Given the description of an element on the screen output the (x, y) to click on. 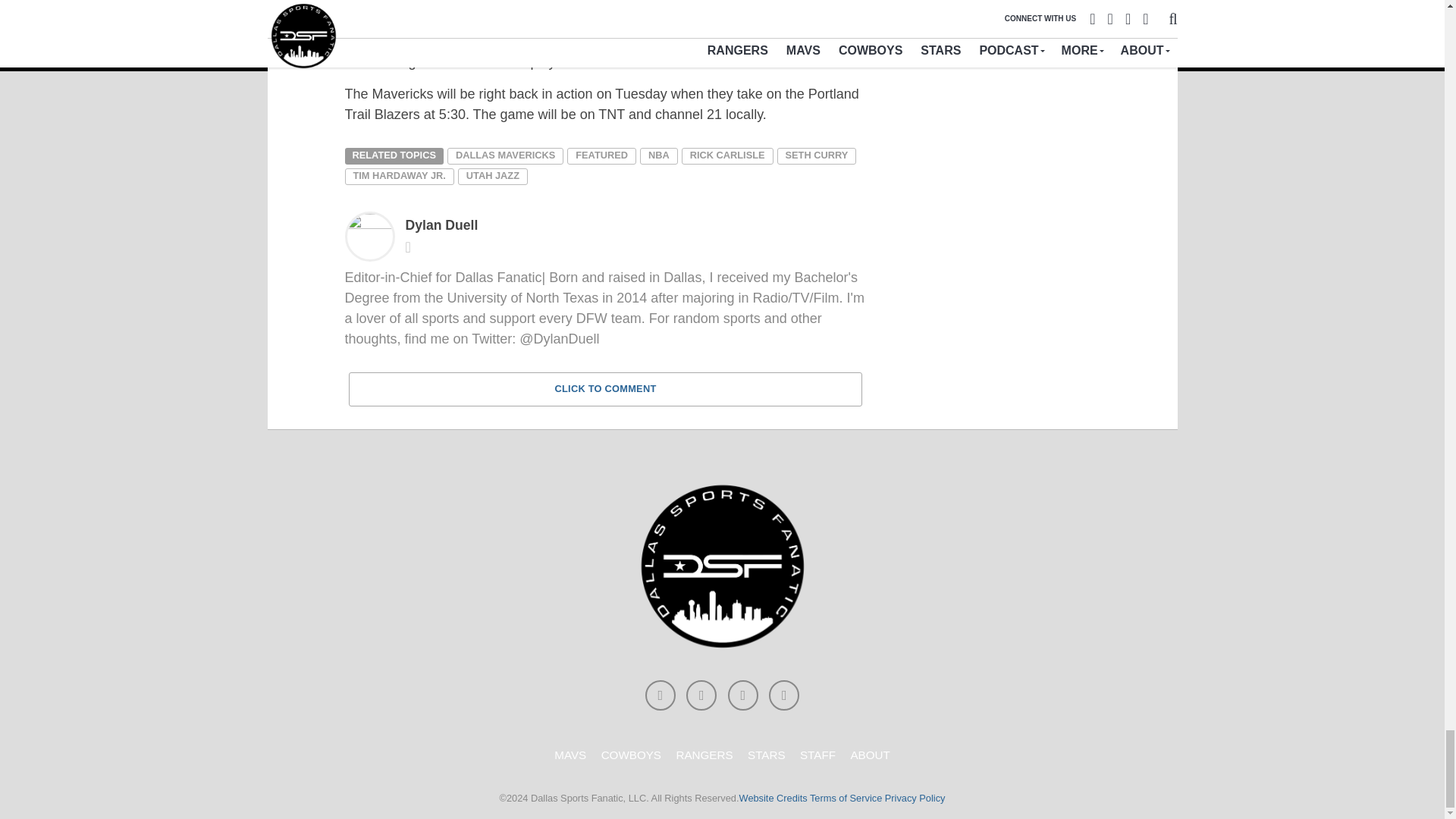
Posts by Dylan Duell (440, 224)
